Given the description of an element on the screen output the (x, y) to click on. 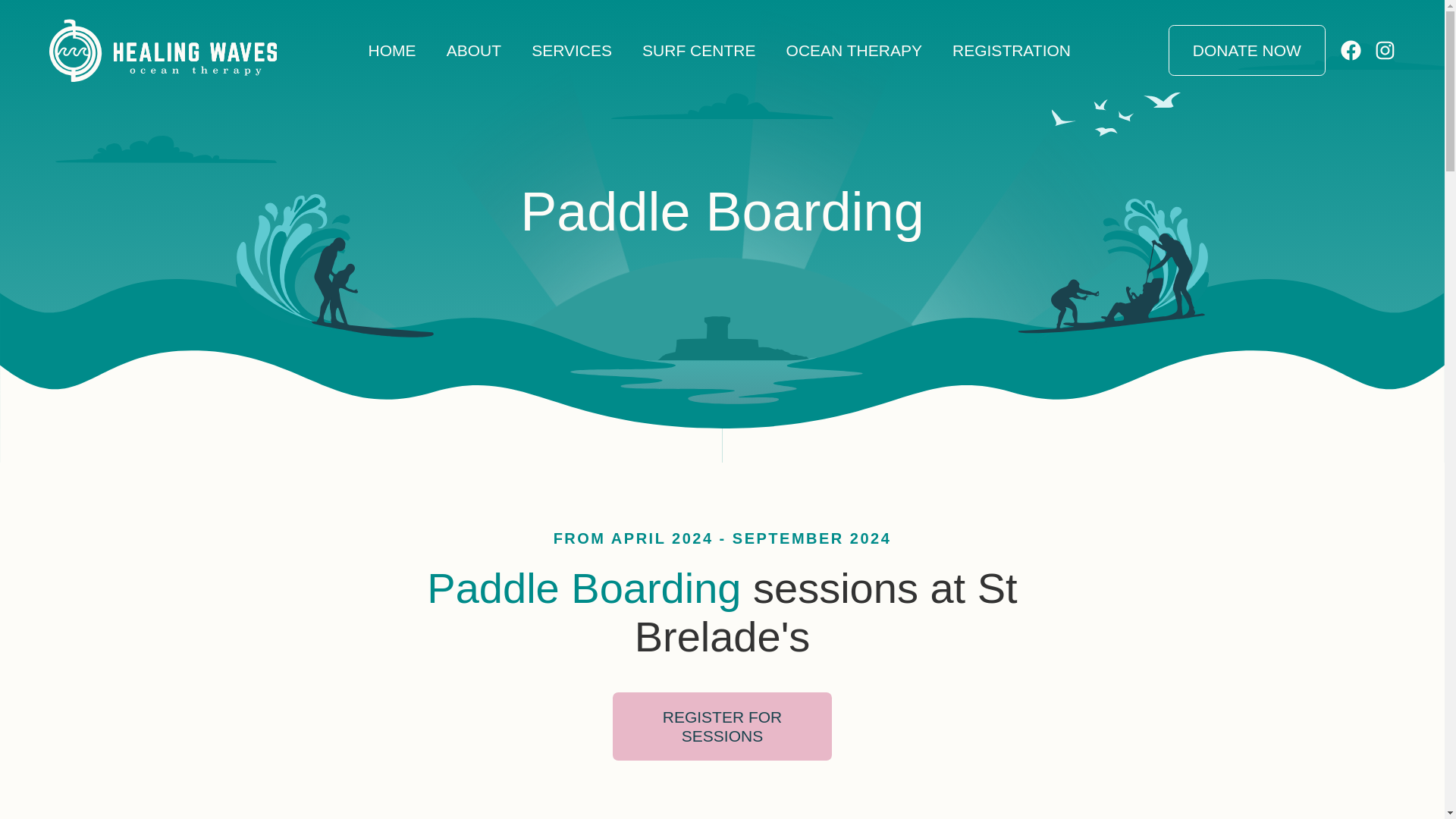
HOME (391, 50)
OCEAN THERAPY (853, 50)
SERVICES (571, 50)
ABOUT (473, 50)
SURF CENTRE (699, 50)
DONATE NOW (1246, 50)
REGISTRATION (1011, 50)
